Given the description of an element on the screen output the (x, y) to click on. 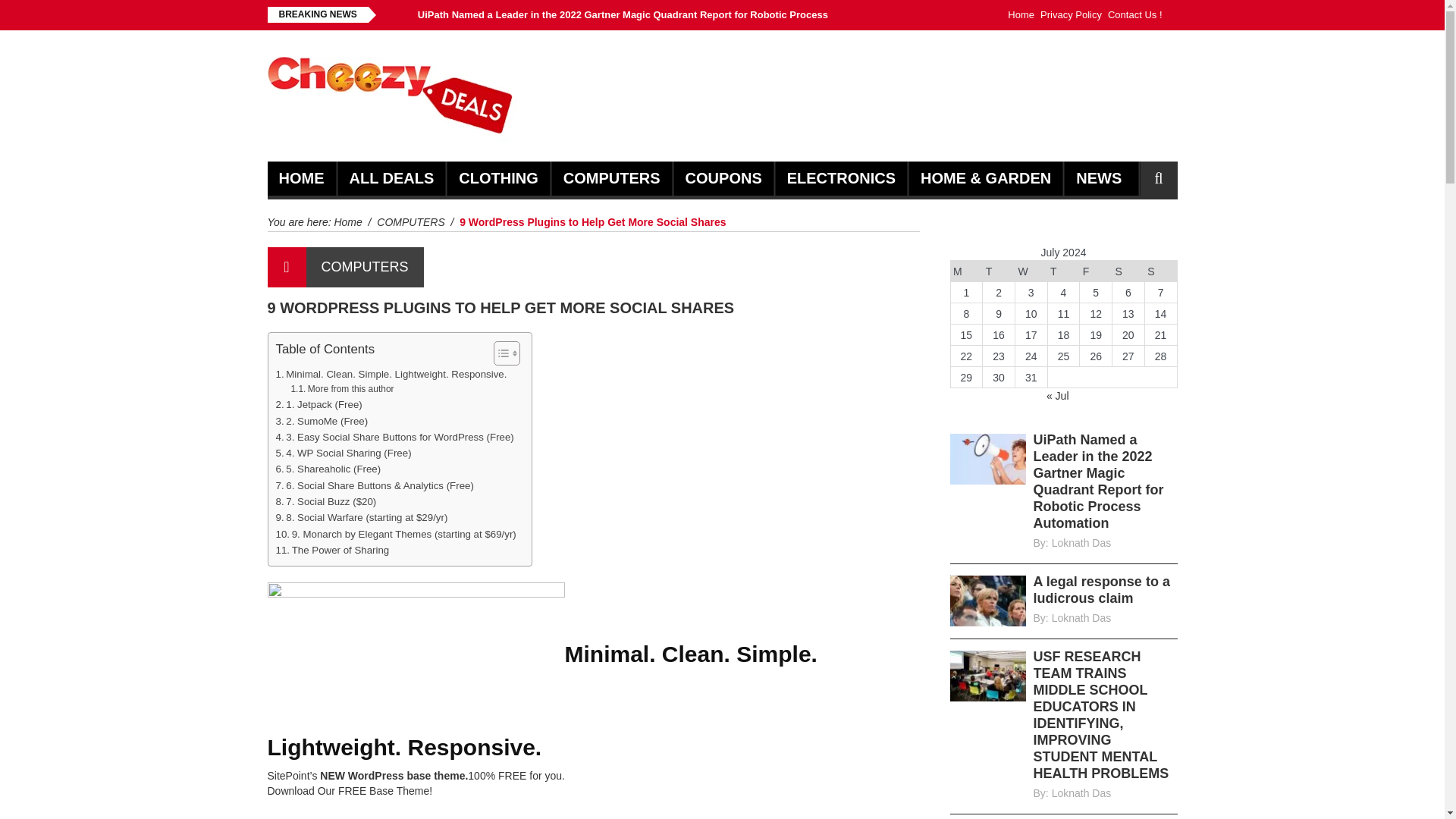
CLOTHING (497, 178)
Home (347, 222)
COMPUTERS (612, 178)
COMPUTERS (410, 222)
COUPONS (723, 178)
Monday (966, 271)
Thursday (1063, 271)
The Power of Sharing (333, 549)
COMPUTERS (364, 267)
ALL DEALS (391, 178)
Tuesday (998, 271)
Privacy Policy (1071, 15)
NEWS (1098, 178)
More from this author (341, 389)
